Given the description of an element on the screen output the (x, y) to click on. 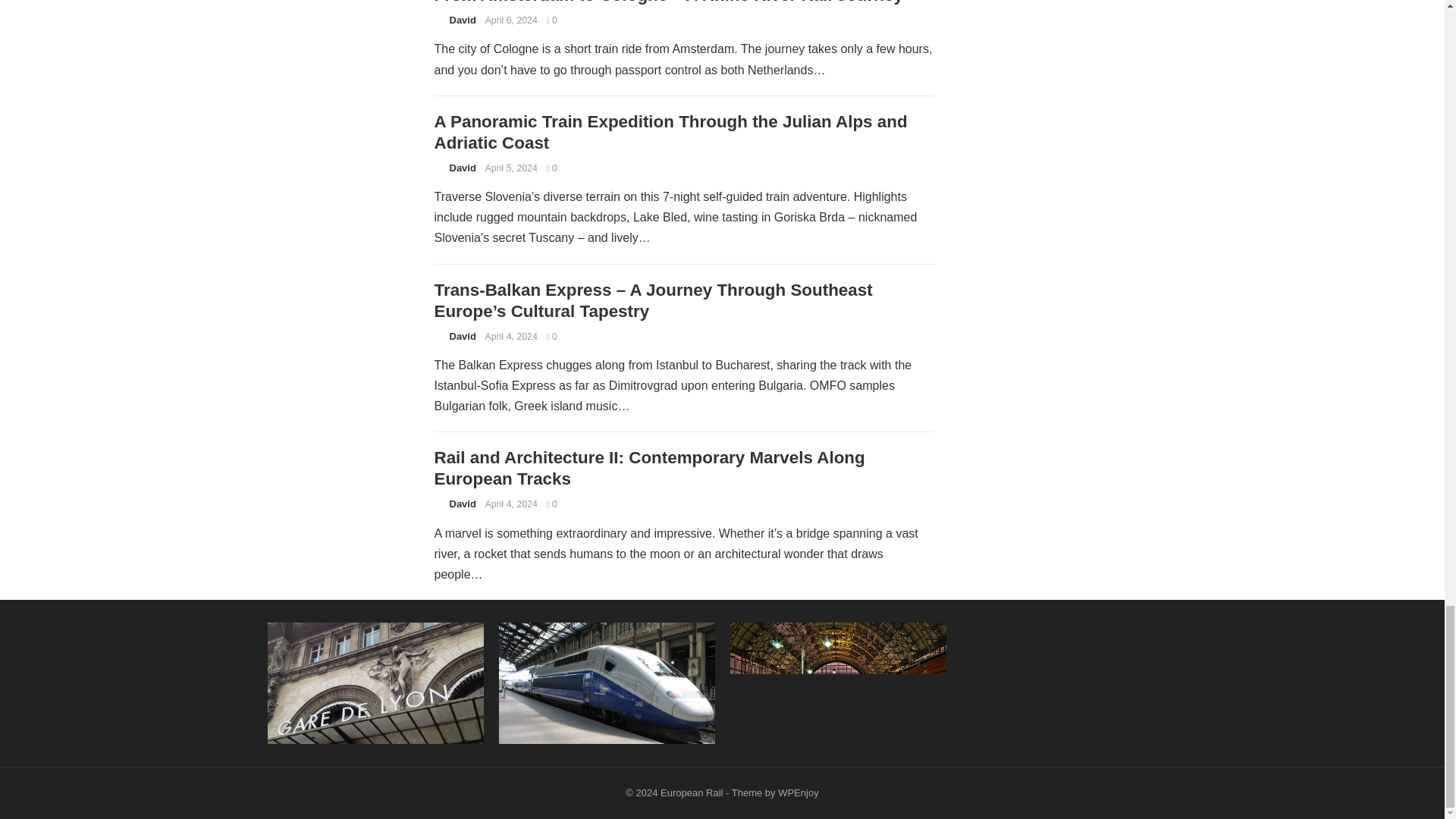
Posts by David (462, 336)
Posts by David (462, 167)
Posts by David (462, 19)
Posts by David (462, 503)
